Given the description of an element on the screen output the (x, y) to click on. 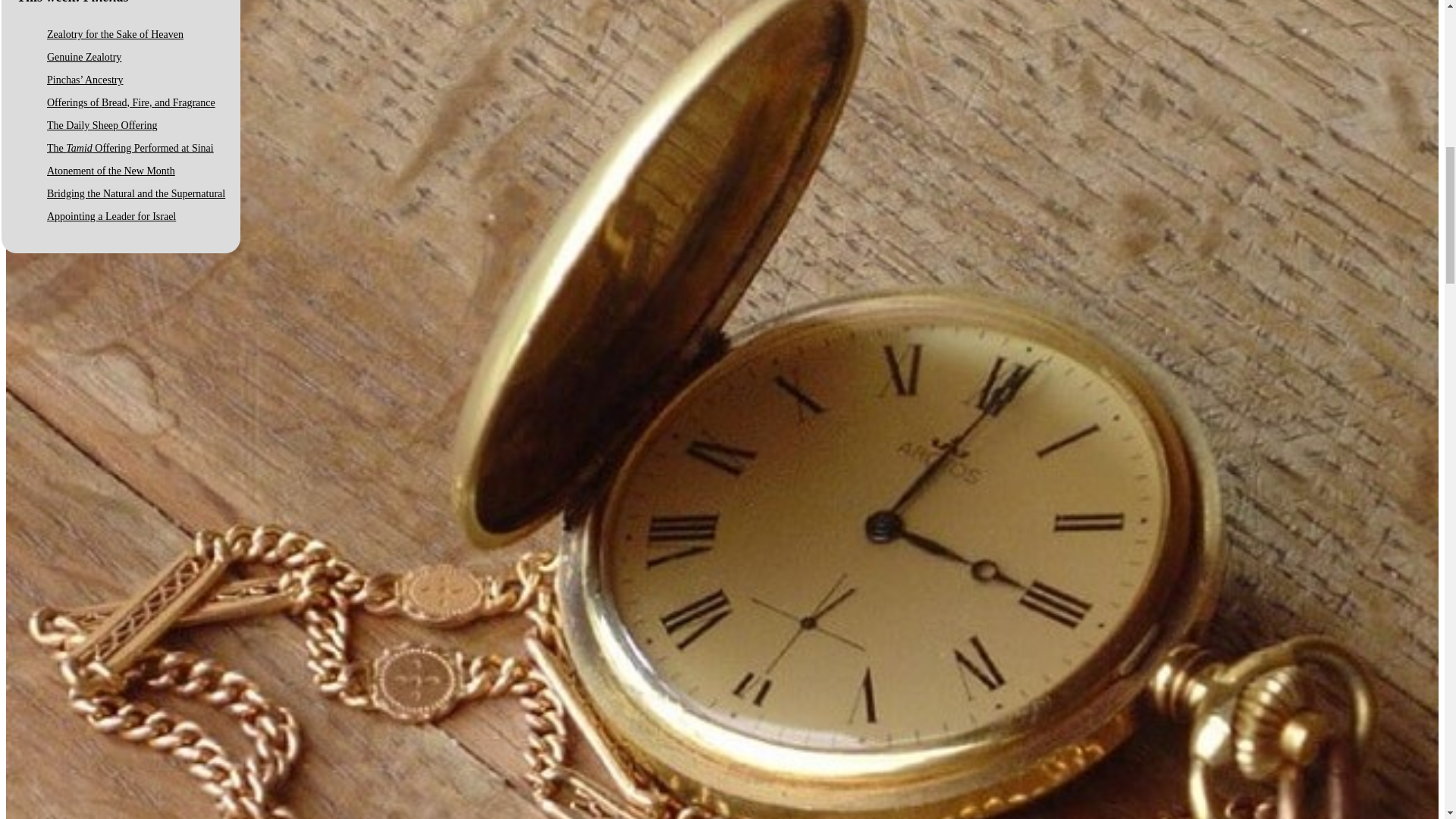
The Tamid Offering Performed at Sinai (130, 147)
Atonement of the New Month (110, 170)
Genuine Zealotry (83, 57)
The Daily Sheep Offering (101, 125)
Zealotry for the Sake of Heaven (114, 34)
Appointing a Leader for Israel (111, 215)
Offerings of Bread, Fire, and Fragrance (130, 102)
Bridging the Natural and the Supernatural (135, 193)
